Given the description of an element on the screen output the (x, y) to click on. 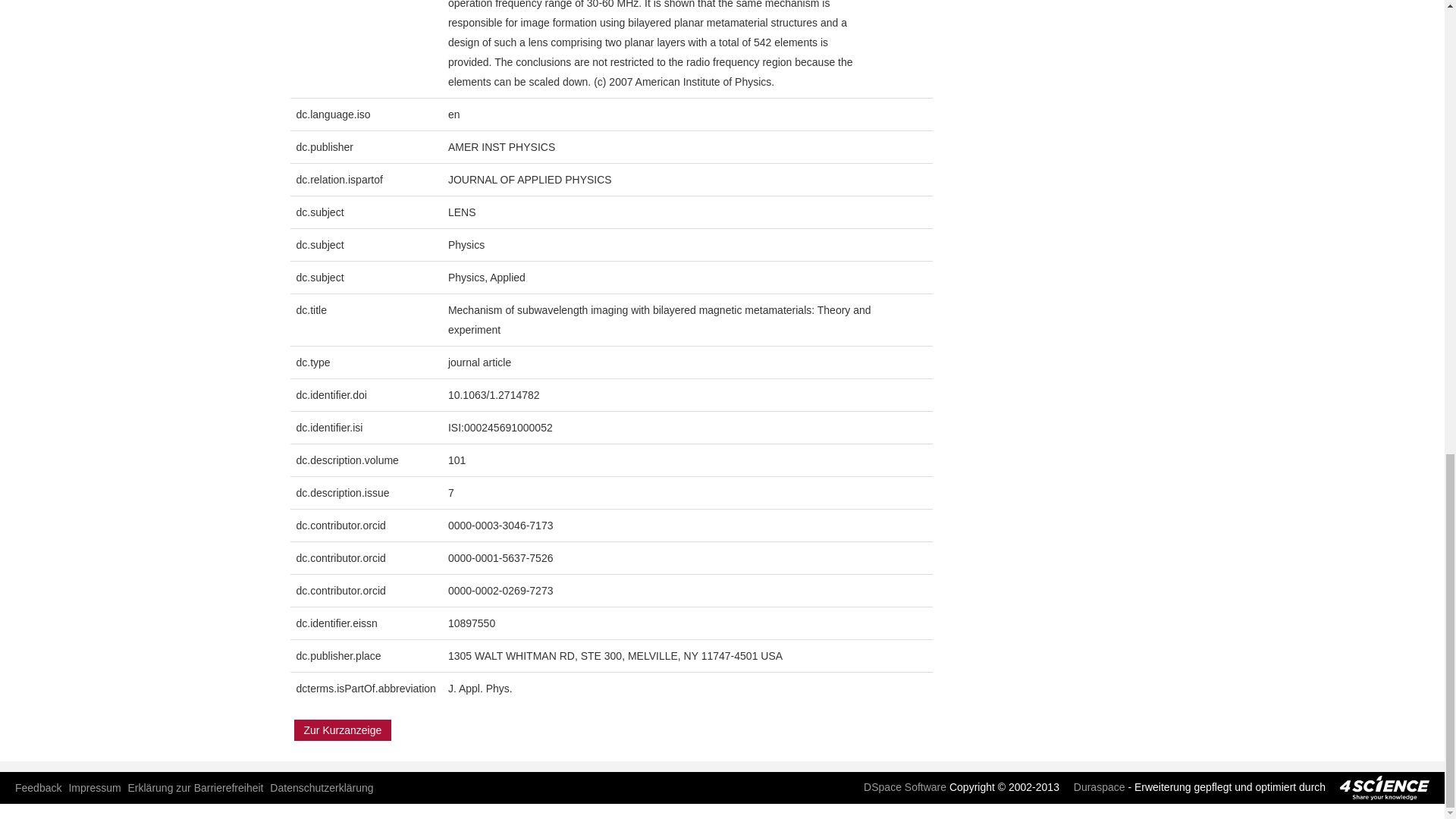
Feedback (37, 787)
Impressum (94, 787)
DSpace Software (898, 787)
Duraspace (1093, 787)
Zur Kurzanzeige (342, 730)
